Given the description of an element on the screen output the (x, y) to click on. 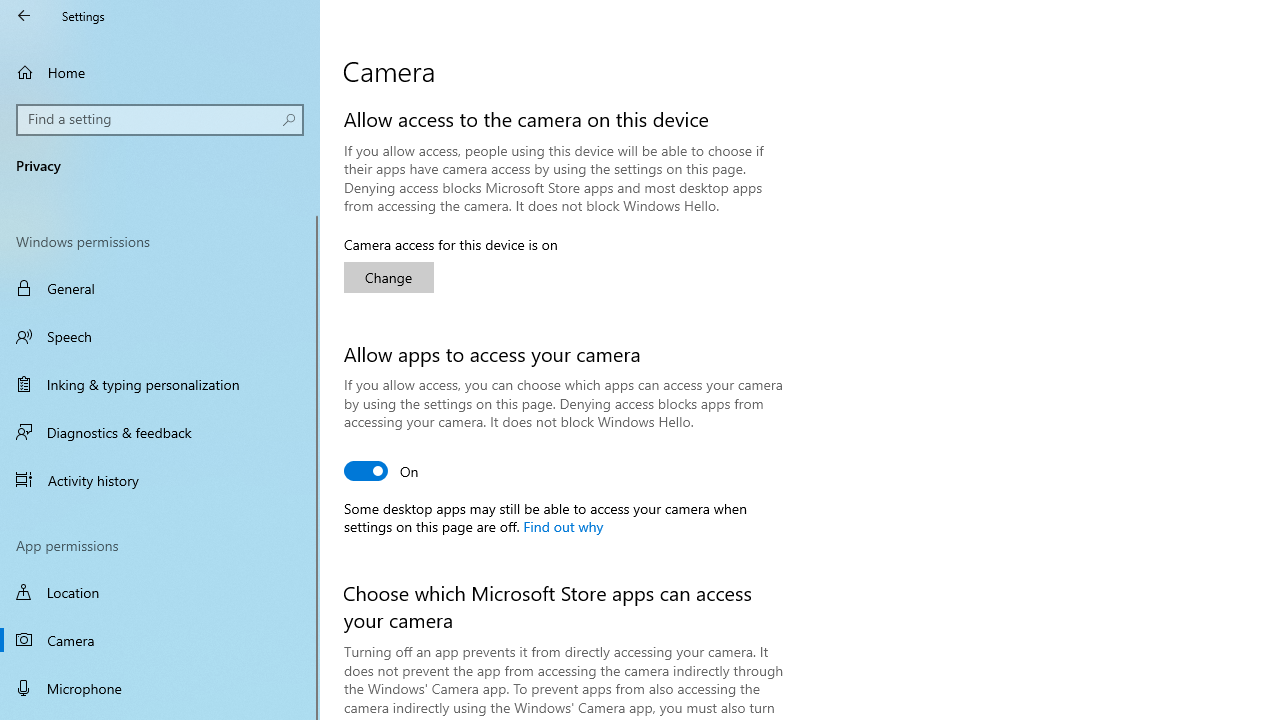
Change (388, 277)
Camera (160, 639)
Inking & typing personalization (160, 384)
Speech (160, 335)
Allow apps to access your camera (381, 470)
Find out why (562, 525)
General (160, 287)
Location (160, 592)
Diagnostics & feedback (160, 431)
Activity history (160, 479)
Search box, Find a setting (160, 119)
Microphone (160, 687)
